Given the description of an element on the screen output the (x, y) to click on. 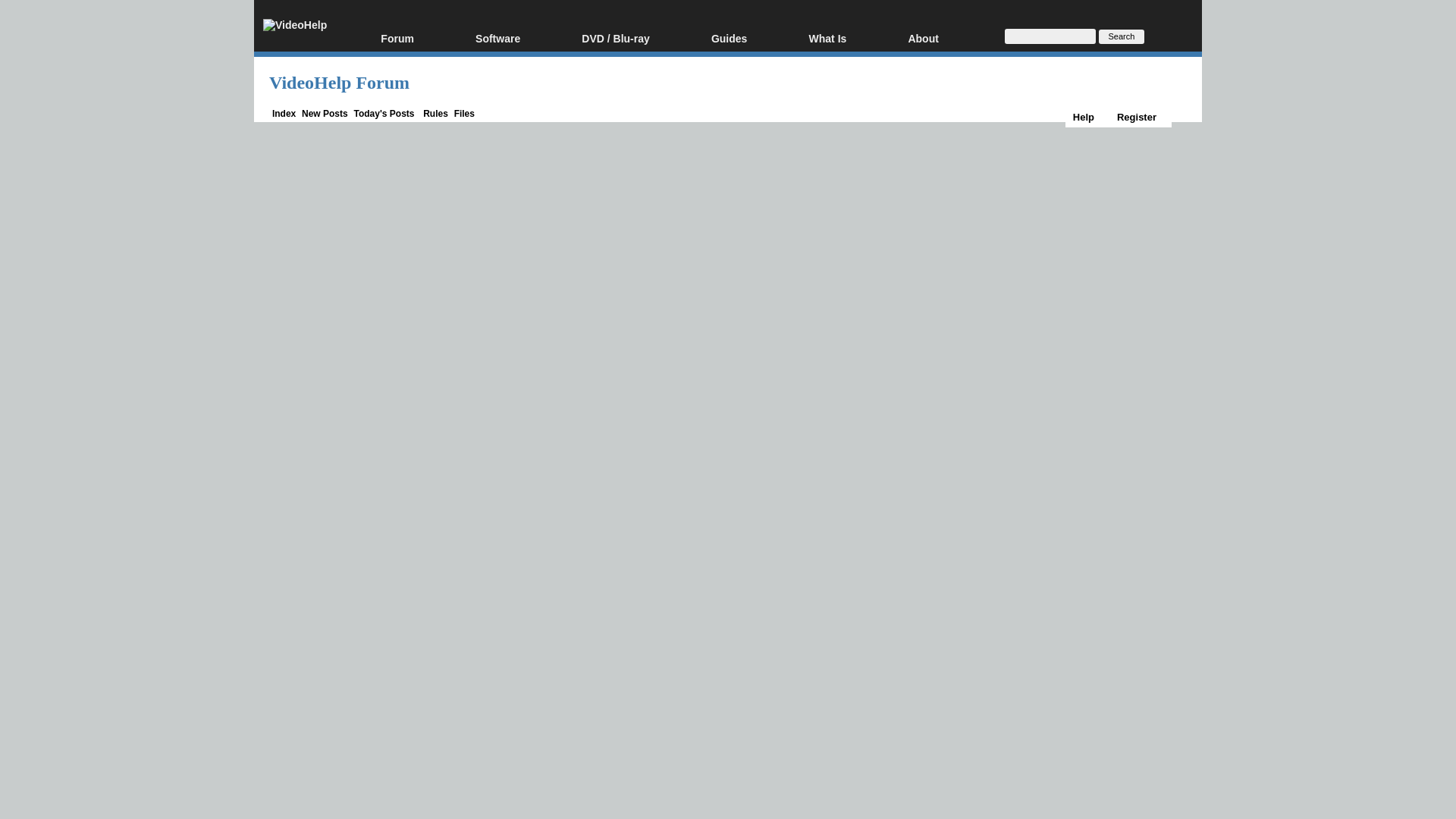
New Posts (324, 113)
Guides (751, 40)
Files (464, 113)
VideoHelp Forum (339, 82)
VideoHelp (294, 24)
Software (520, 40)
Today's Posts (383, 113)
Search (1121, 35)
Search (1121, 35)
Rules (435, 113)
